Given the description of an element on the screen output the (x, y) to click on. 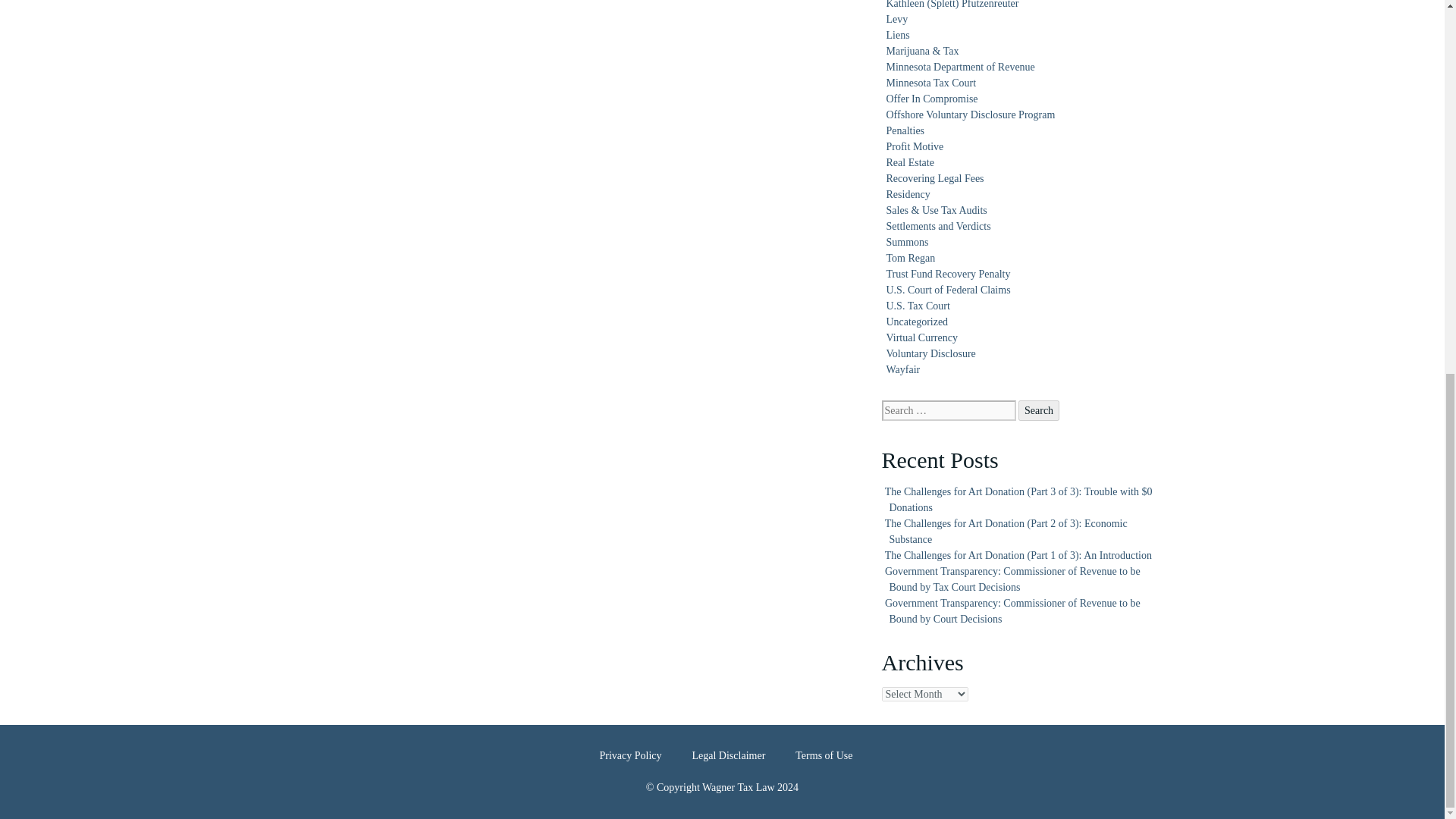
Search (1038, 410)
Search (1038, 410)
